Given the description of an element on the screen output the (x, y) to click on. 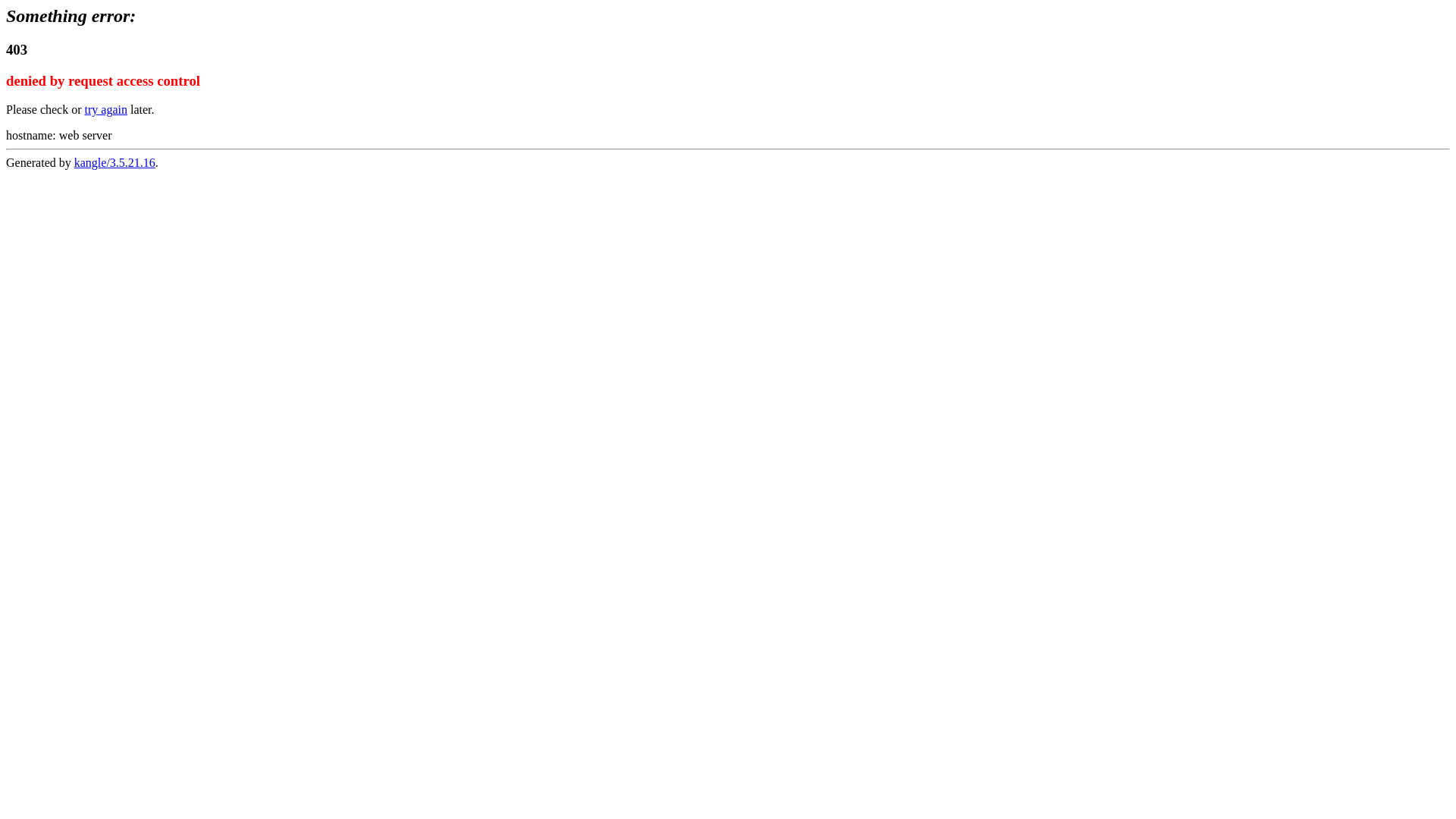
try again Element type: text (105, 109)
kangle/3.5.21.16 Element type: text (114, 162)
